Given the description of an element on the screen output the (x, y) to click on. 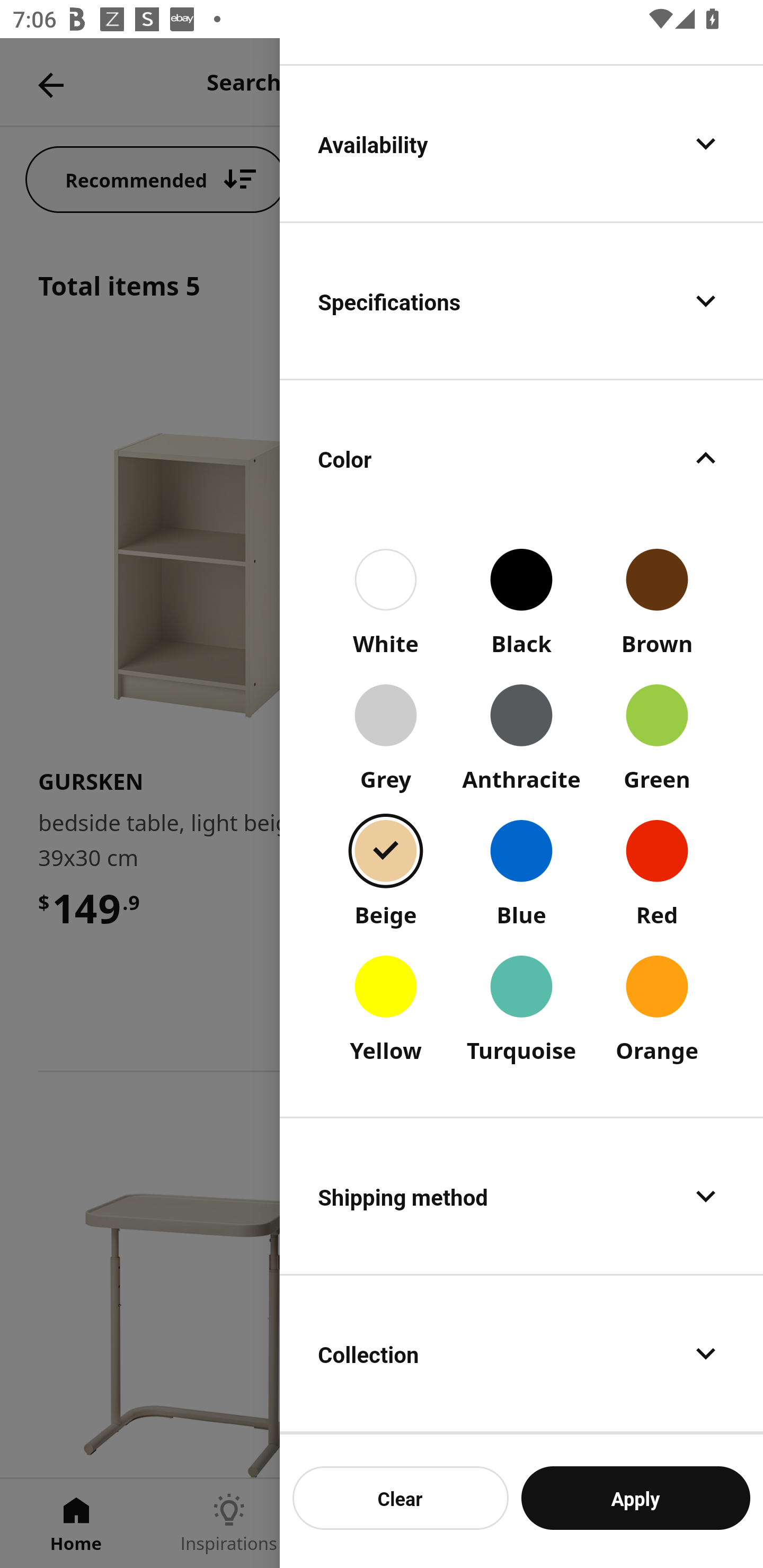
Availability (521, 143)
Specifications (521, 300)
Color (521, 458)
Shipping method (521, 1195)
Collection (521, 1353)
Clear (400, 1498)
Apply (635, 1498)
